Given the description of an element on the screen output the (x, y) to click on. 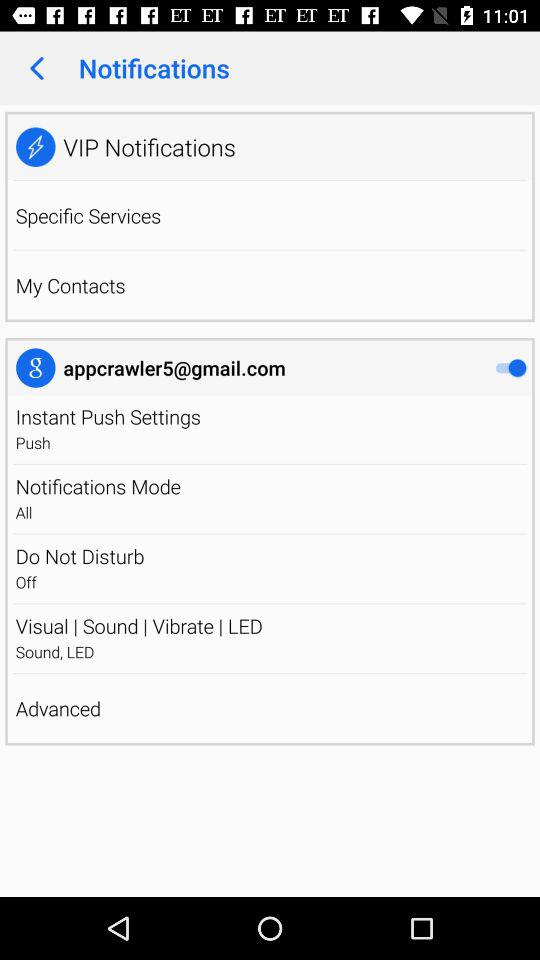
press item above off app (269, 556)
